Given the description of an element on the screen output the (x, y) to click on. 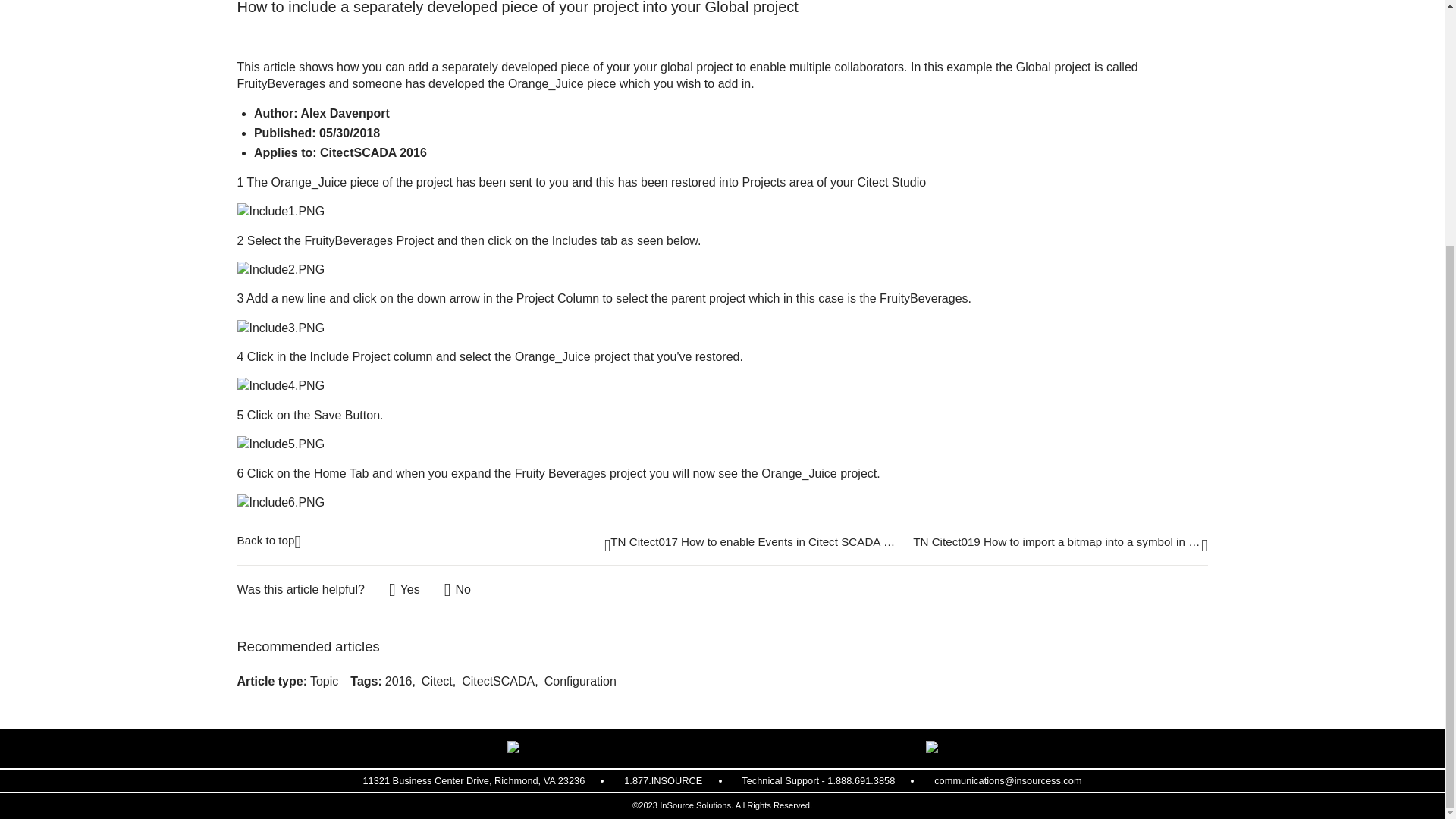
Configuration (579, 680)
Citect (437, 680)
Yes (404, 589)
2016 (398, 680)
Topic (323, 680)
Back to top (267, 538)
No (457, 589)
Jump back to top of this article (267, 538)
CitectSCADA (497, 680)
TN Citect017 How to enable Events in Citect SCADA 2016 (751, 545)
TN Citect017 How to enable Events in Citect SCADA 2016 (751, 545)
